Given the description of an element on the screen output the (x, y) to click on. 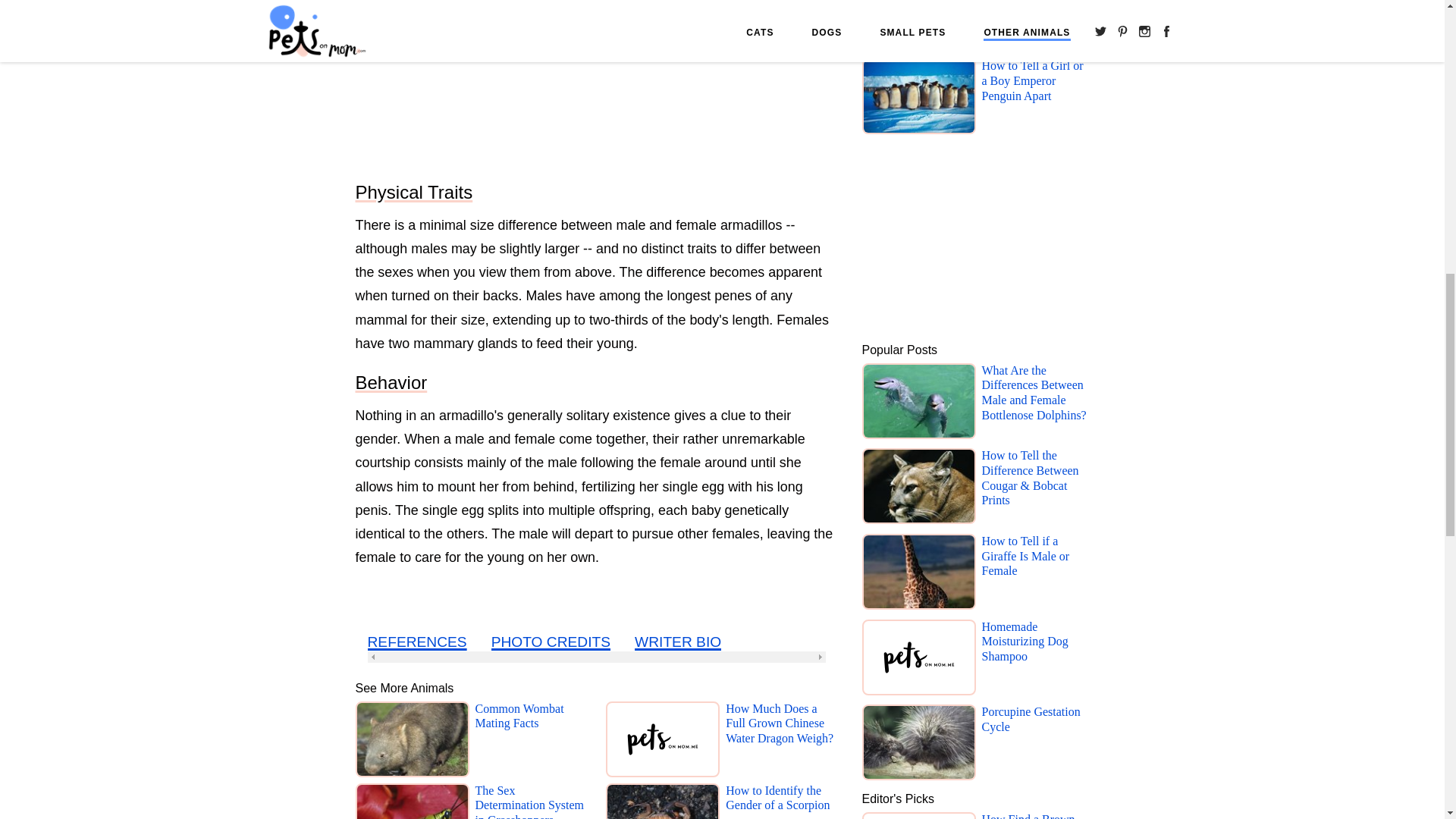
Advertisement (596, 82)
How Much Does a Full Grown Chinese Water Dragon Weigh? (781, 741)
The Sex Determination System in Grasshoppers (530, 800)
How to Identify the Gender of a Scorpion (781, 800)
Common Wombat Mating Facts (530, 741)
